Given the description of an element on the screen output the (x, y) to click on. 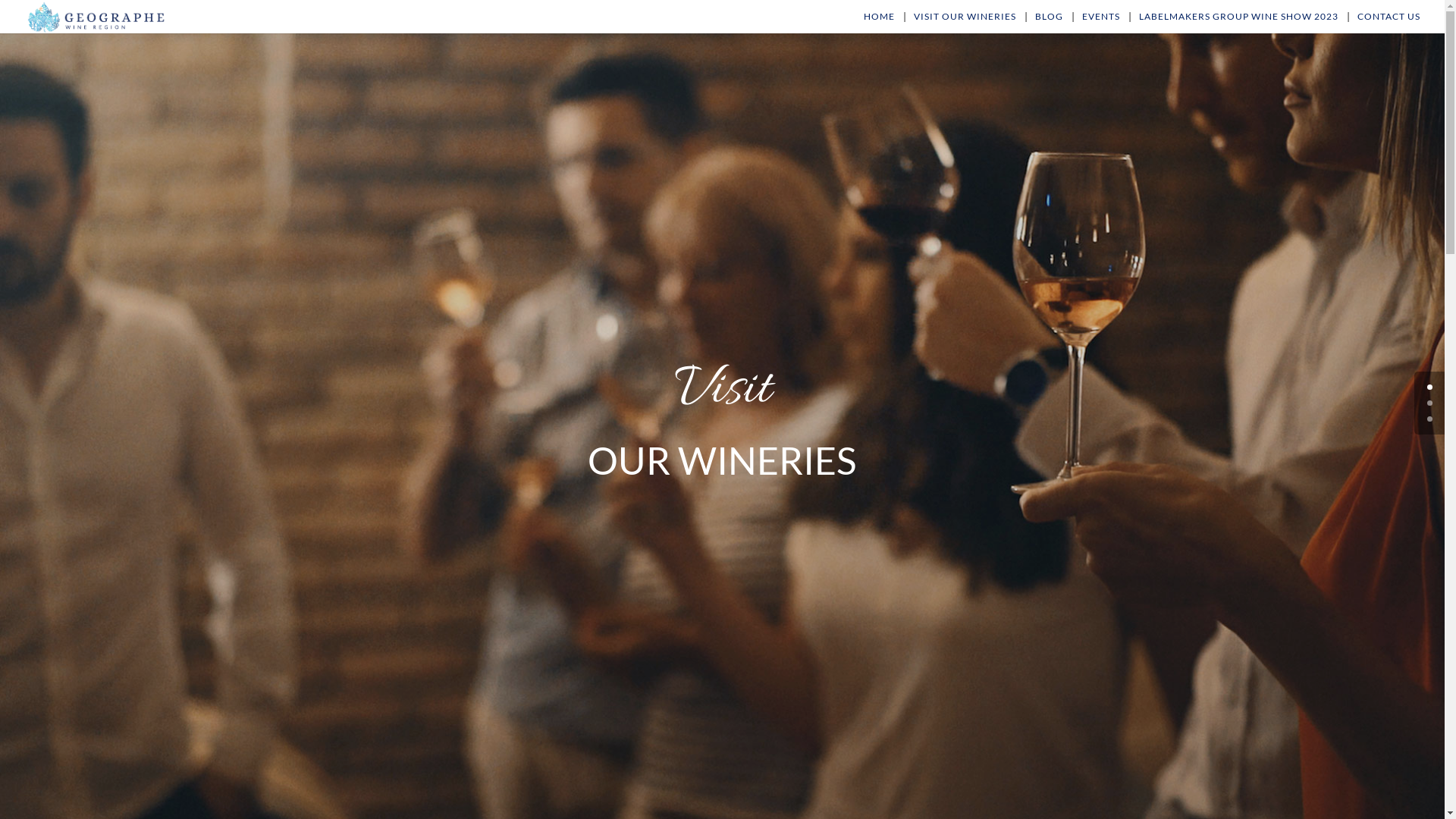
BLOG Element type: text (1049, 22)
HOME Element type: text (878, 22)
1 Element type: text (1429, 402)
CONTACT US Element type: text (1388, 22)
VISIT OUR WINERIES Element type: text (964, 22)
0 Element type: text (1429, 386)
LABELMAKERS GROUP WINE SHOW 2023 Element type: text (1238, 22)
2 Element type: text (1429, 418)
EVENTS Element type: text (1101, 22)
